Given the description of an element on the screen output the (x, y) to click on. 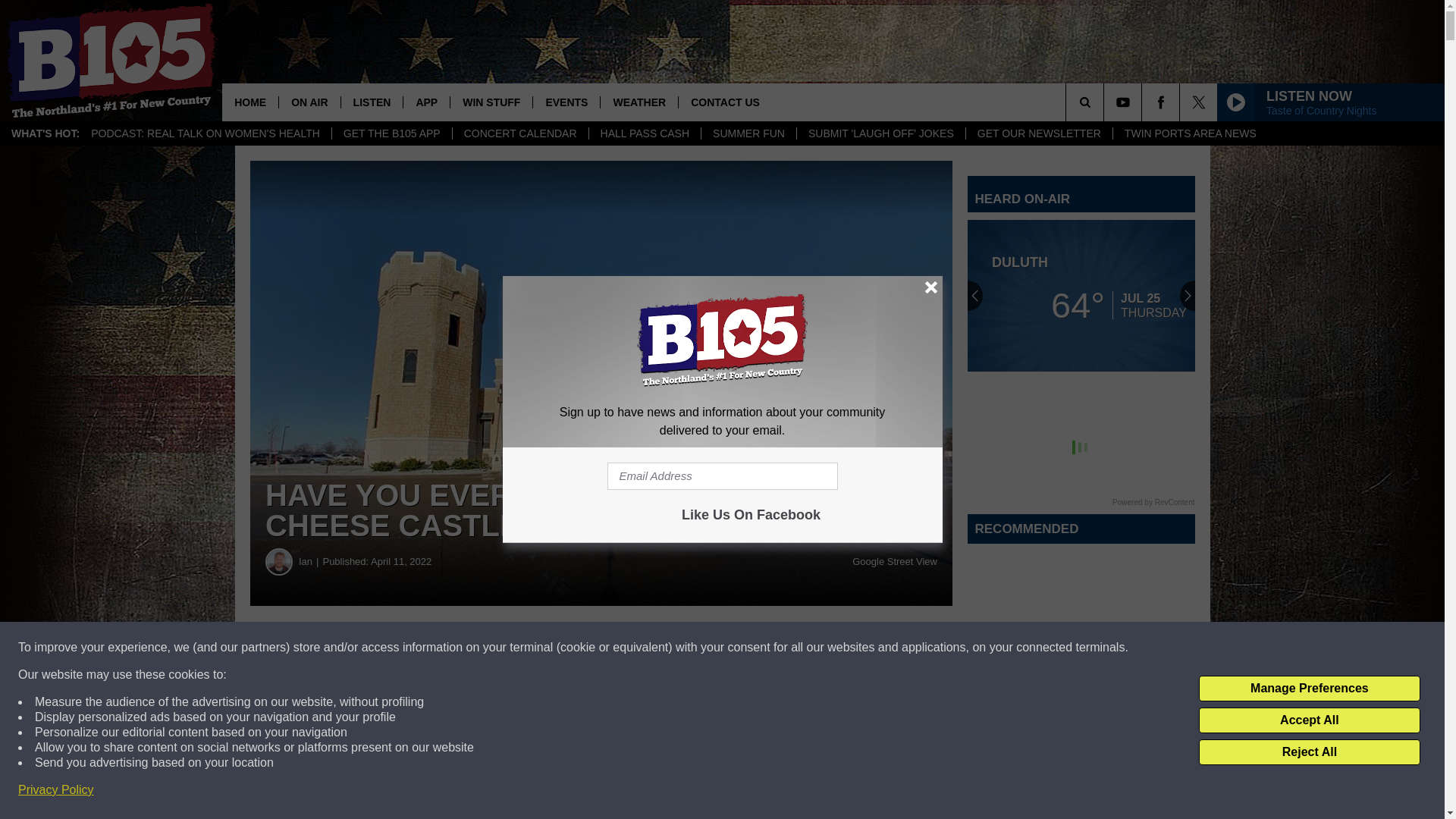
LISTEN (371, 102)
SUMMER FUN (748, 133)
Share on Twitter (741, 647)
HOME (250, 102)
PODCAST: REAL TALK ON WOMEN'S HEALTH (205, 133)
Reject All (1309, 751)
HALL PASS CASH (644, 133)
APP (426, 102)
GET OUR NEWSLETTER (1038, 133)
GET THE B105 APP (391, 133)
CONCERT CALENDAR (519, 133)
Accept All (1309, 720)
TWIN PORTS AREA NEWS (1190, 133)
SUBMIT 'LAUGH OFF' JOKES (880, 133)
ON AIR (308, 102)
